Given the description of an element on the screen output the (x, y) to click on. 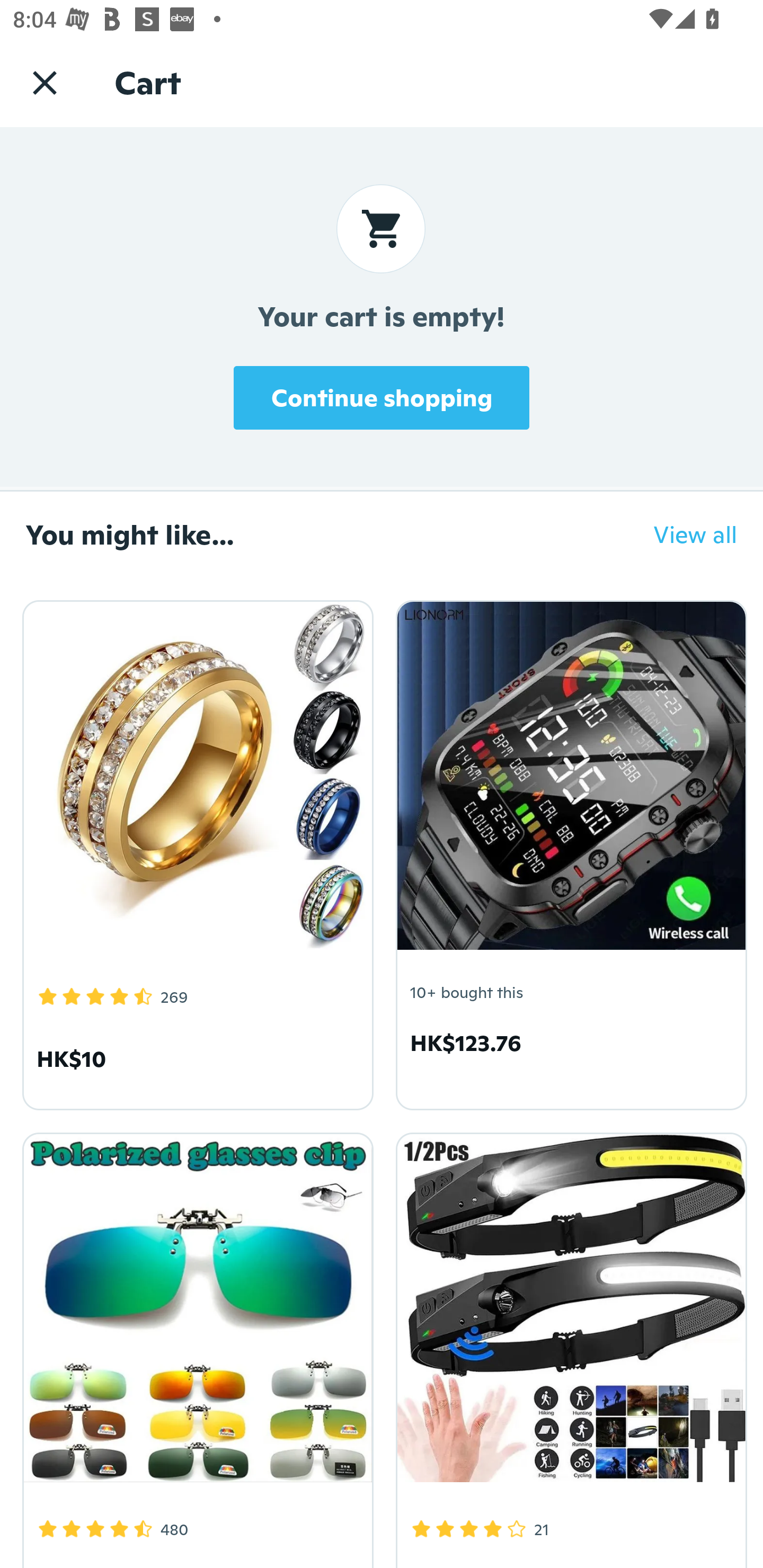
Navigate up (44, 82)
Continue shopping (381, 397)
View all (682, 534)
4.5 Star Rating 269 HK$10 (194, 852)
10+ bought this HK$123.76 (567, 852)
4.5 Star Rating 480 (194, 1346)
4.2 Star Rating 21 (567, 1346)
